Given the description of an element on the screen output the (x, y) to click on. 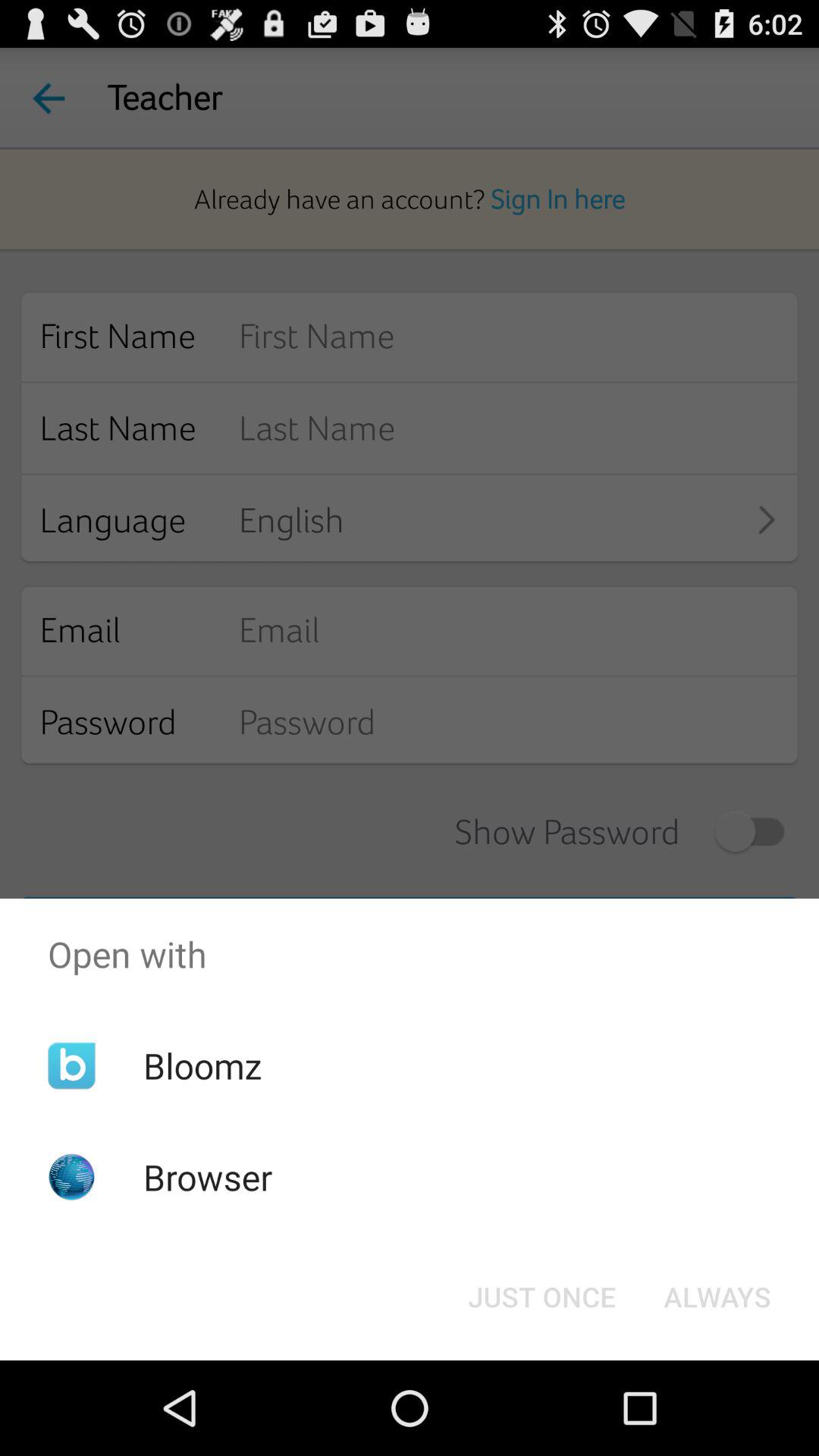
choose the item below open with icon (541, 1296)
